Given the description of an element on the screen output the (x, y) to click on. 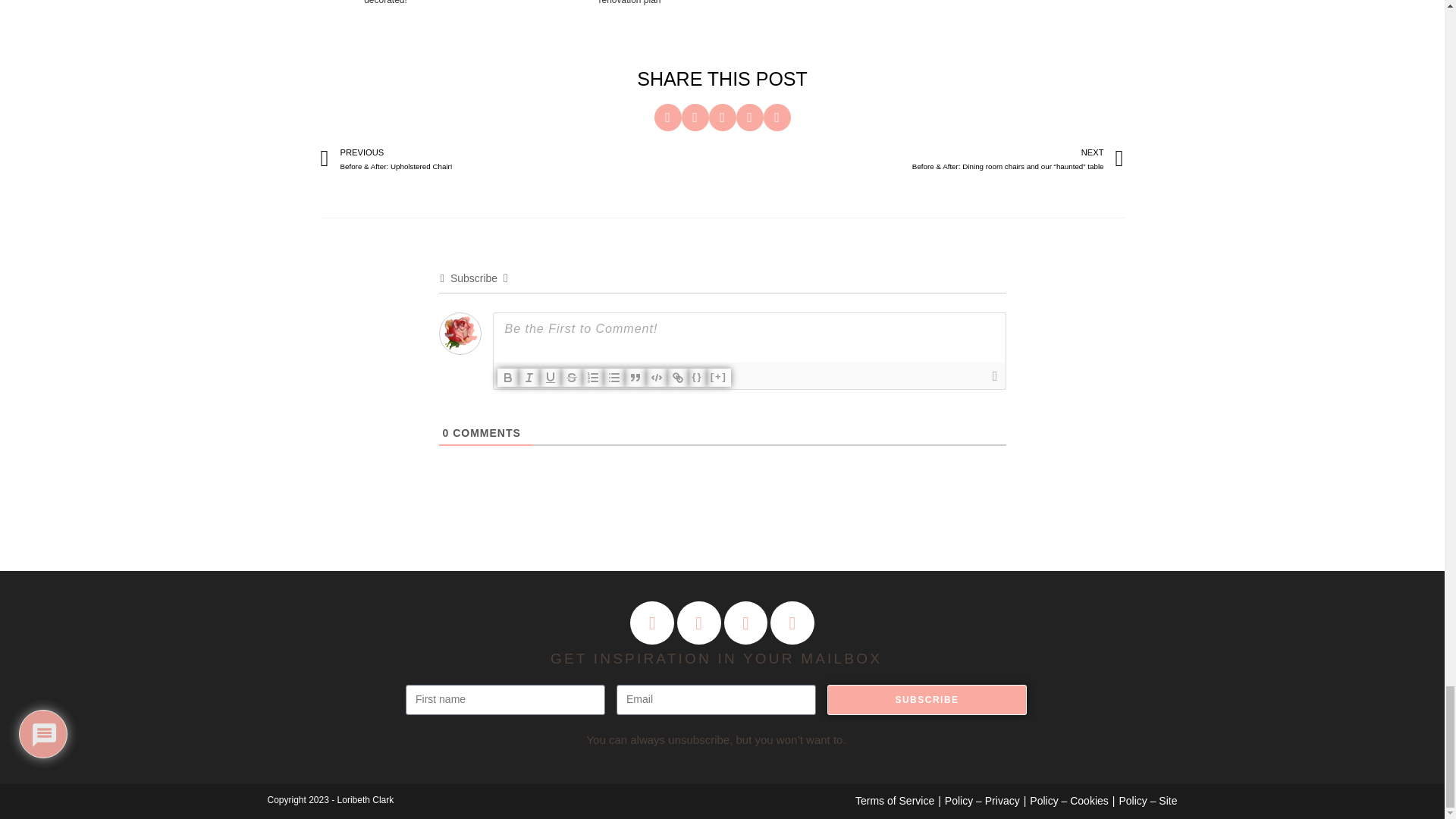
The Christmas tree is decorated! (385, 21)
Italic (529, 377)
1950's Ranch kitchen renovation plan (630, 21)
Bold (507, 377)
Bathroom reveal! (507, 21)
